Given the description of an element on the screen output the (x, y) to click on. 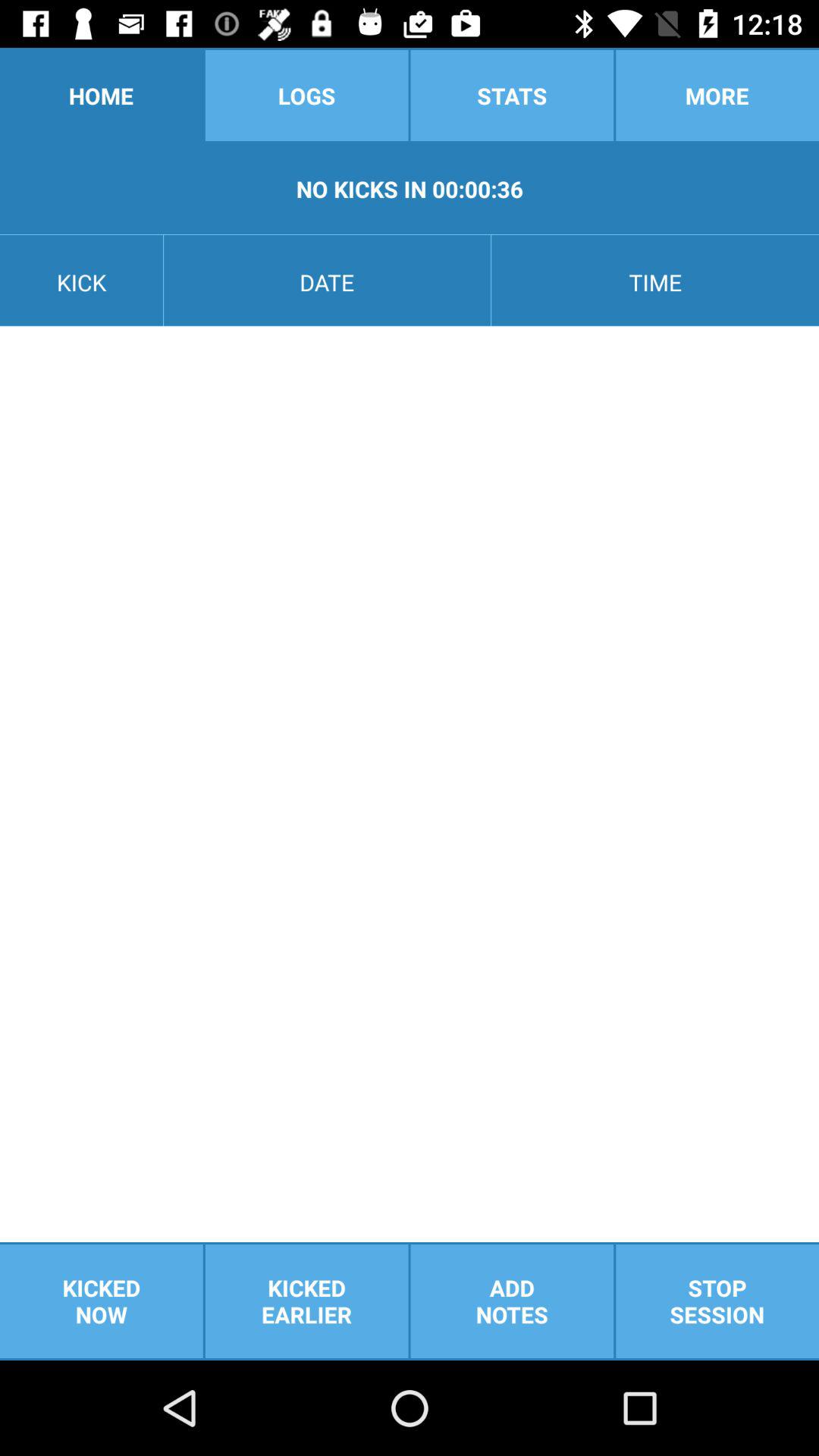
tap stop
session (717, 1301)
